Given the description of an element on the screen output the (x, y) to click on. 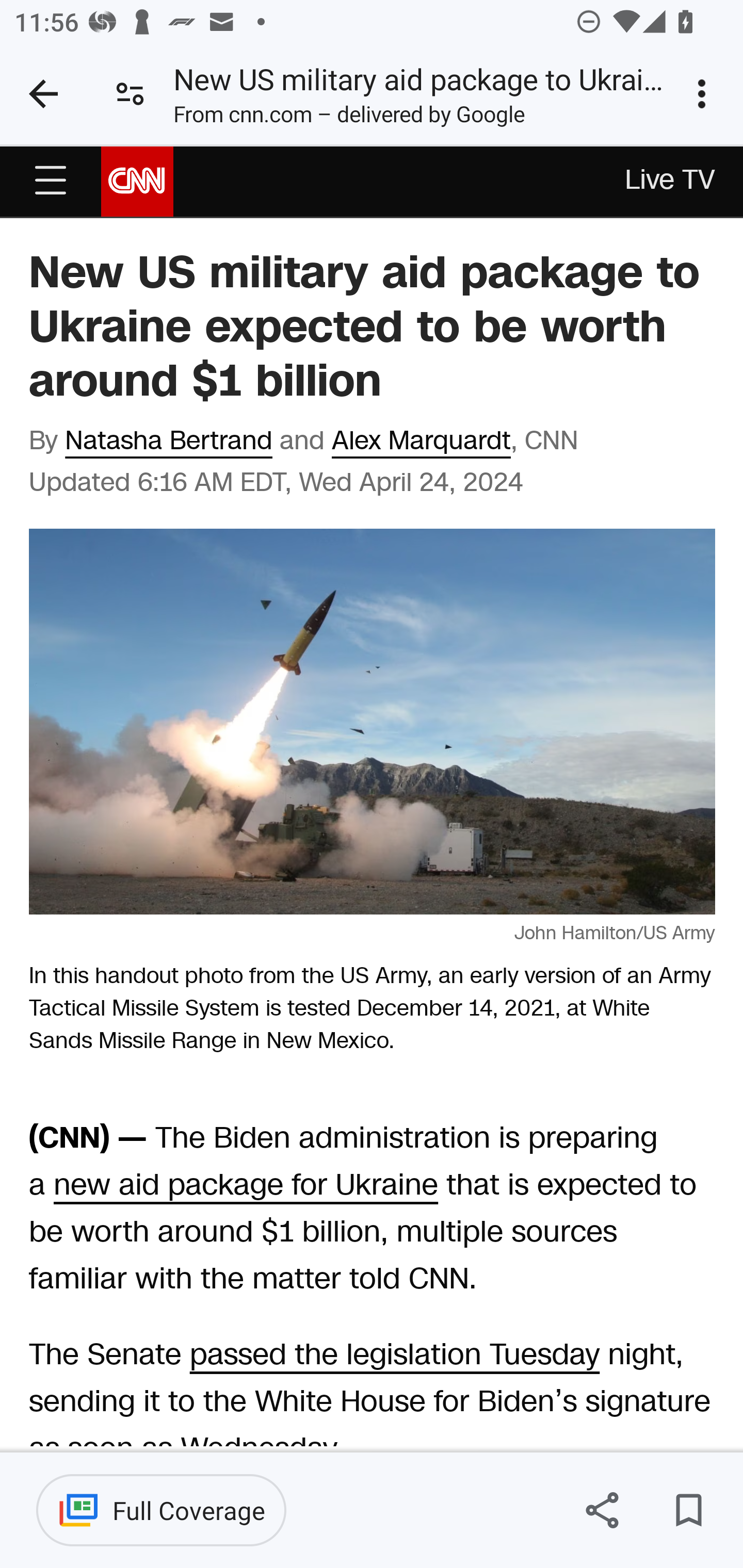
Close tab (43, 93)
Customize and control Google Chrome (705, 93)
Connection is secure (129, 93)
From cnn.com – delivered by Google (349, 117)
CNN logo (137, 180)
us-ukraine-military-aid-package?amp_js_v=0 (50, 180)
Live TV (670, 181)
Natasha Bertrand (169, 441)
Alex Marquardt (420, 441)
new aid package for Ukraine (245, 1185)
passed the legislation Tuesday (394, 1355)
Full Coverage (161, 1509)
Share (601, 1510)
Save for later (688, 1510)
